Given the description of an element on the screen output the (x, y) to click on. 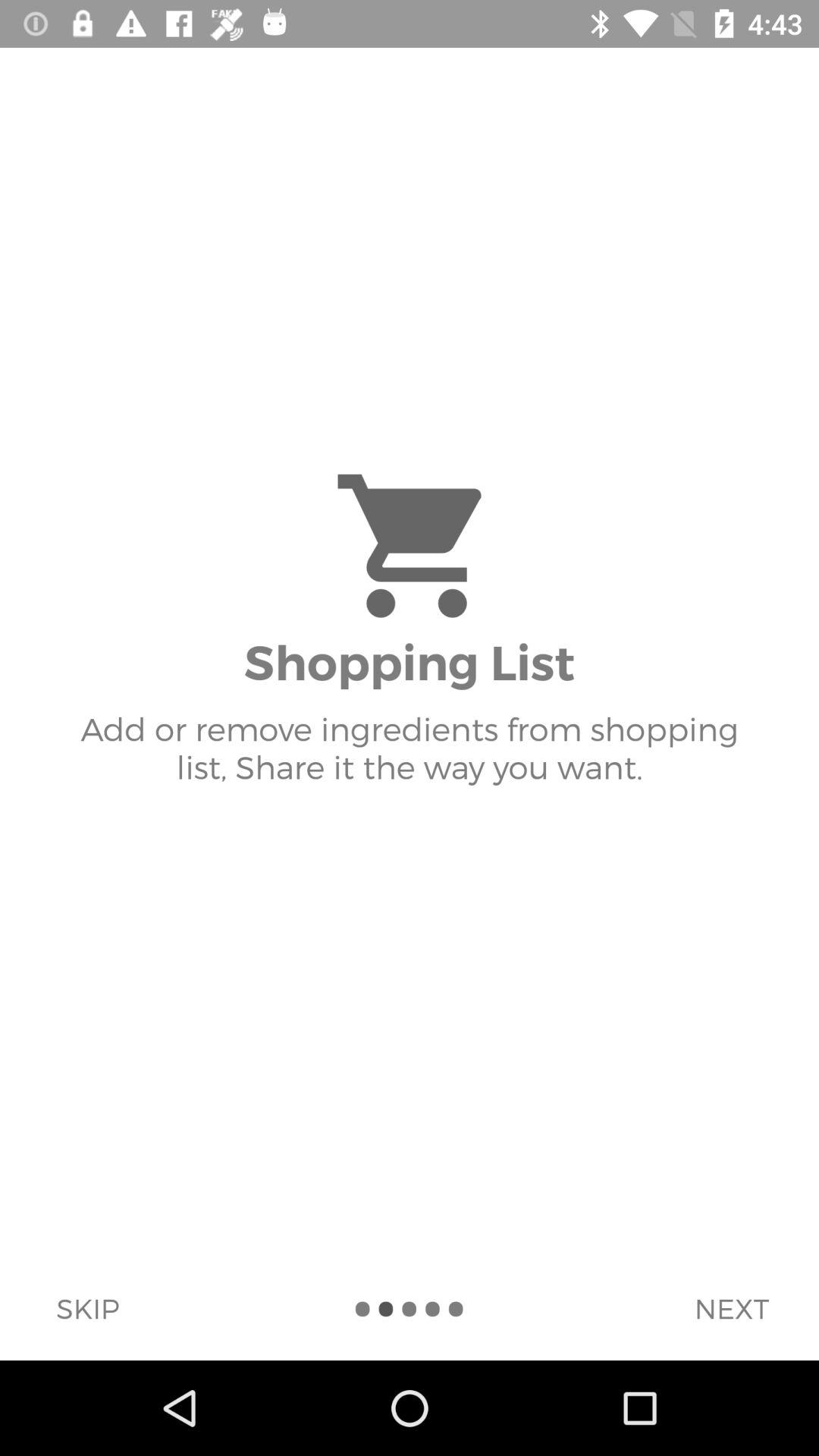
select icon at the bottom left corner (87, 1308)
